Given the description of an element on the screen output the (x, y) to click on. 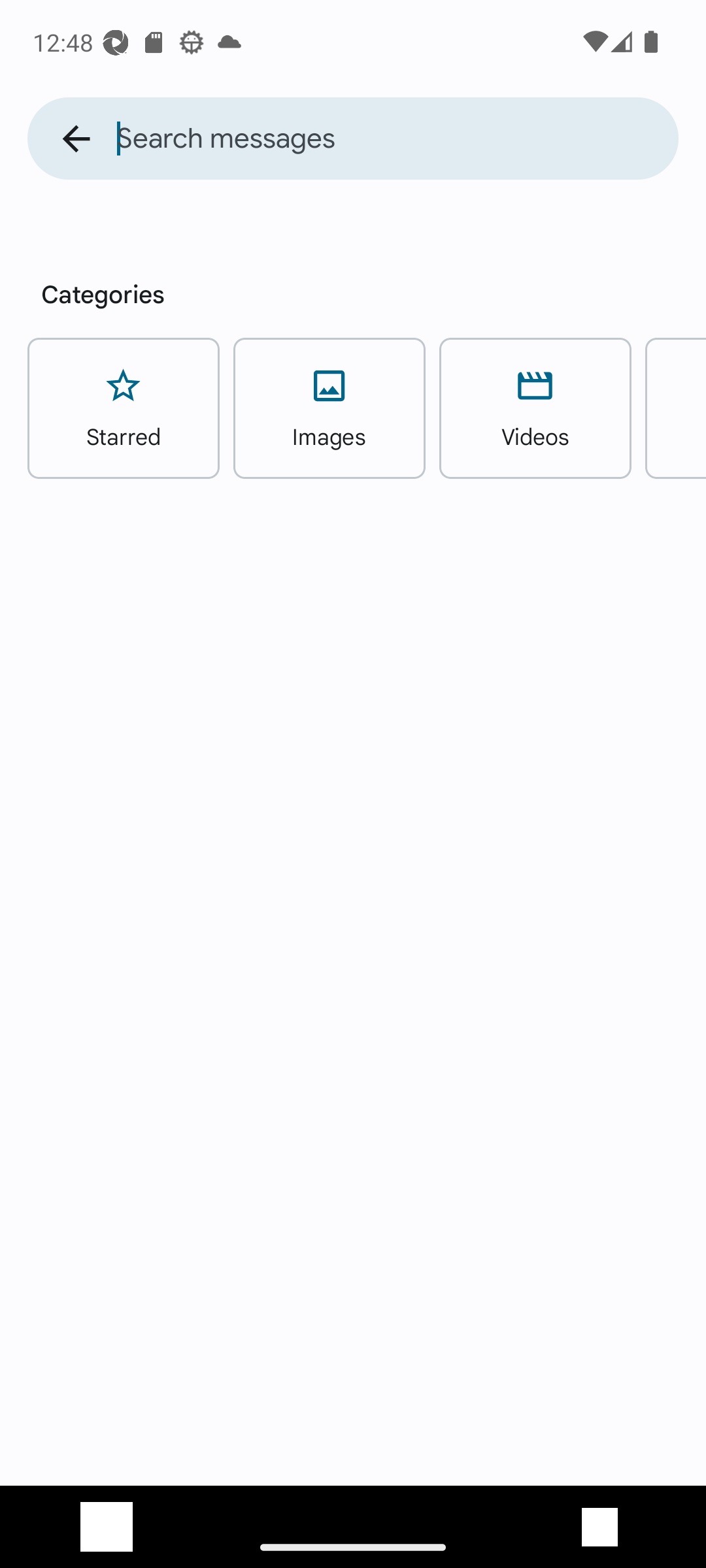
Go back (75, 138)
Search messages (397, 138)
Starred (123, 407)
Images (329, 407)
Videos (535, 407)
